Given the description of an element on the screen output the (x, y) to click on. 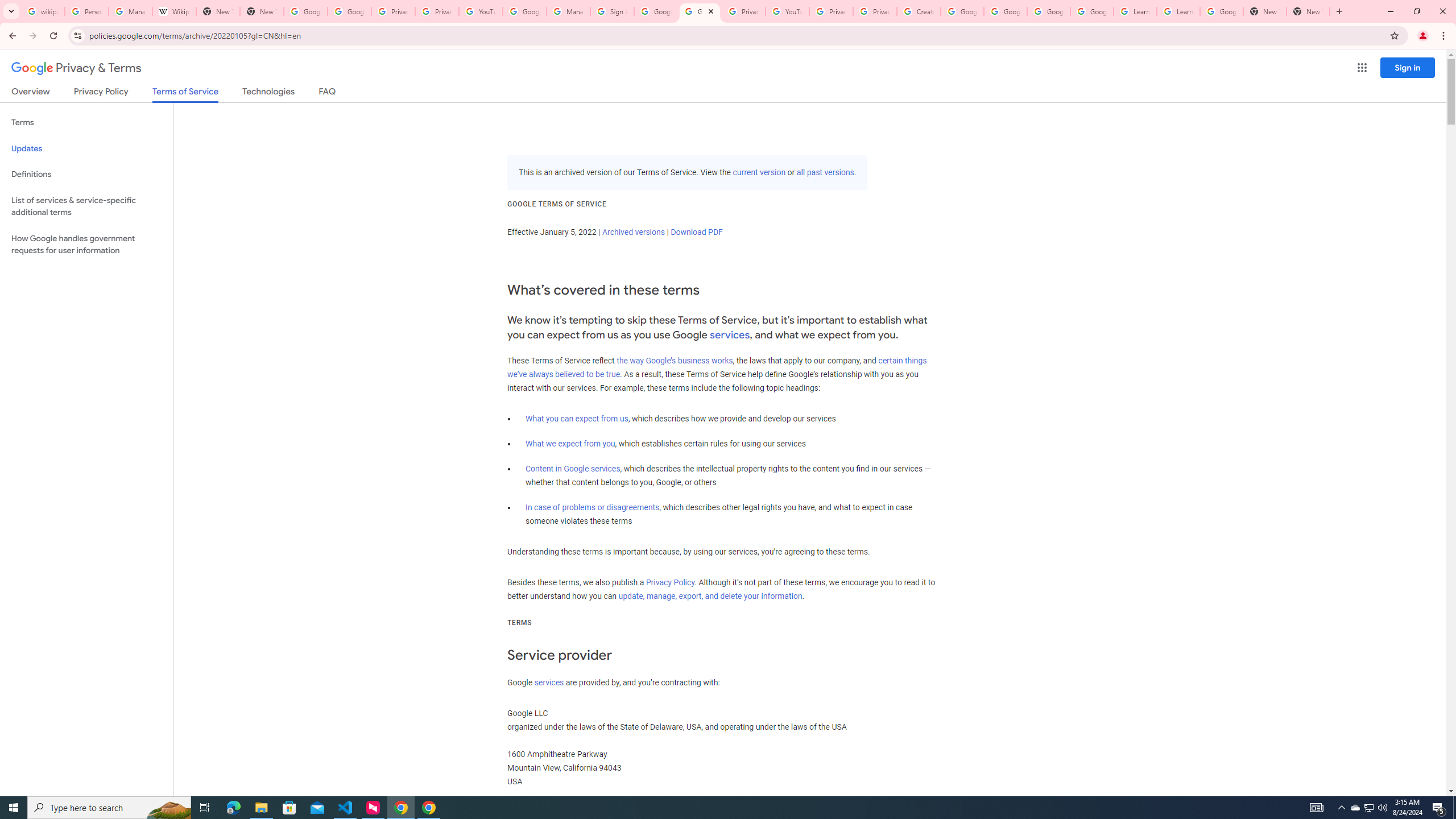
Sign in - Google Accounts (612, 11)
What you can expect from us (576, 418)
current version (759, 172)
Create your Google Account (918, 11)
